Given the description of an element on the screen output the (x, y) to click on. 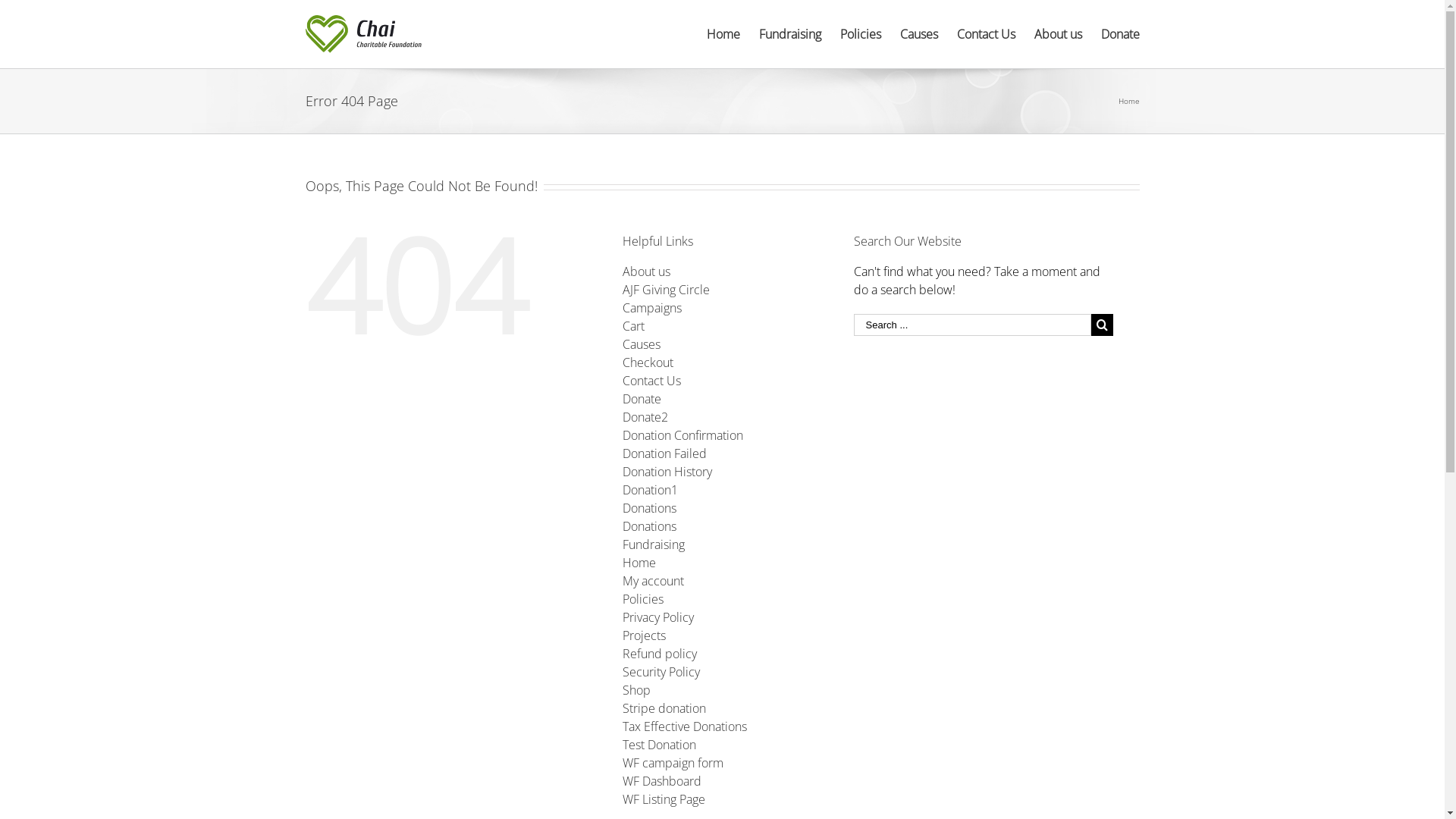
Home Element type: text (723, 34)
Donations Element type: text (649, 525)
Causes Element type: text (641, 343)
WF campaign form Element type: text (672, 762)
AJF Giving Circle Element type: text (665, 289)
Donation History Element type: text (667, 471)
Refund policy Element type: text (659, 653)
Test Donation Element type: text (659, 744)
Donation Failed Element type: text (664, 453)
Tax Effective Donations Element type: text (684, 726)
Donations Element type: text (649, 507)
Donate Element type: text (1120, 34)
Privacy Policy Element type: text (657, 616)
Home Element type: text (638, 562)
Donate Element type: text (641, 398)
Contact Us Element type: text (986, 34)
Projects Element type: text (643, 635)
Policies Element type: text (860, 34)
WF Listing Page Element type: text (663, 798)
WF Dashboard Element type: text (661, 780)
Donation1 Element type: text (649, 489)
Stripe donation Element type: text (664, 707)
About us Element type: text (1058, 34)
Shop Element type: text (636, 689)
Home Element type: text (1128, 100)
Donate2 Element type: text (645, 416)
Policies Element type: text (642, 598)
My account Element type: text (653, 580)
Cart Element type: text (633, 325)
Causes Element type: text (918, 34)
Contact Us Element type: text (651, 380)
Checkout Element type: text (647, 362)
Donation Confirmation Element type: text (682, 434)
Fundraising Element type: text (789, 34)
Campaigns Element type: text (651, 307)
Security Policy Element type: text (660, 671)
About us Element type: text (646, 271)
Fundraising Element type: text (653, 544)
